Given the description of an element on the screen output the (x, y) to click on. 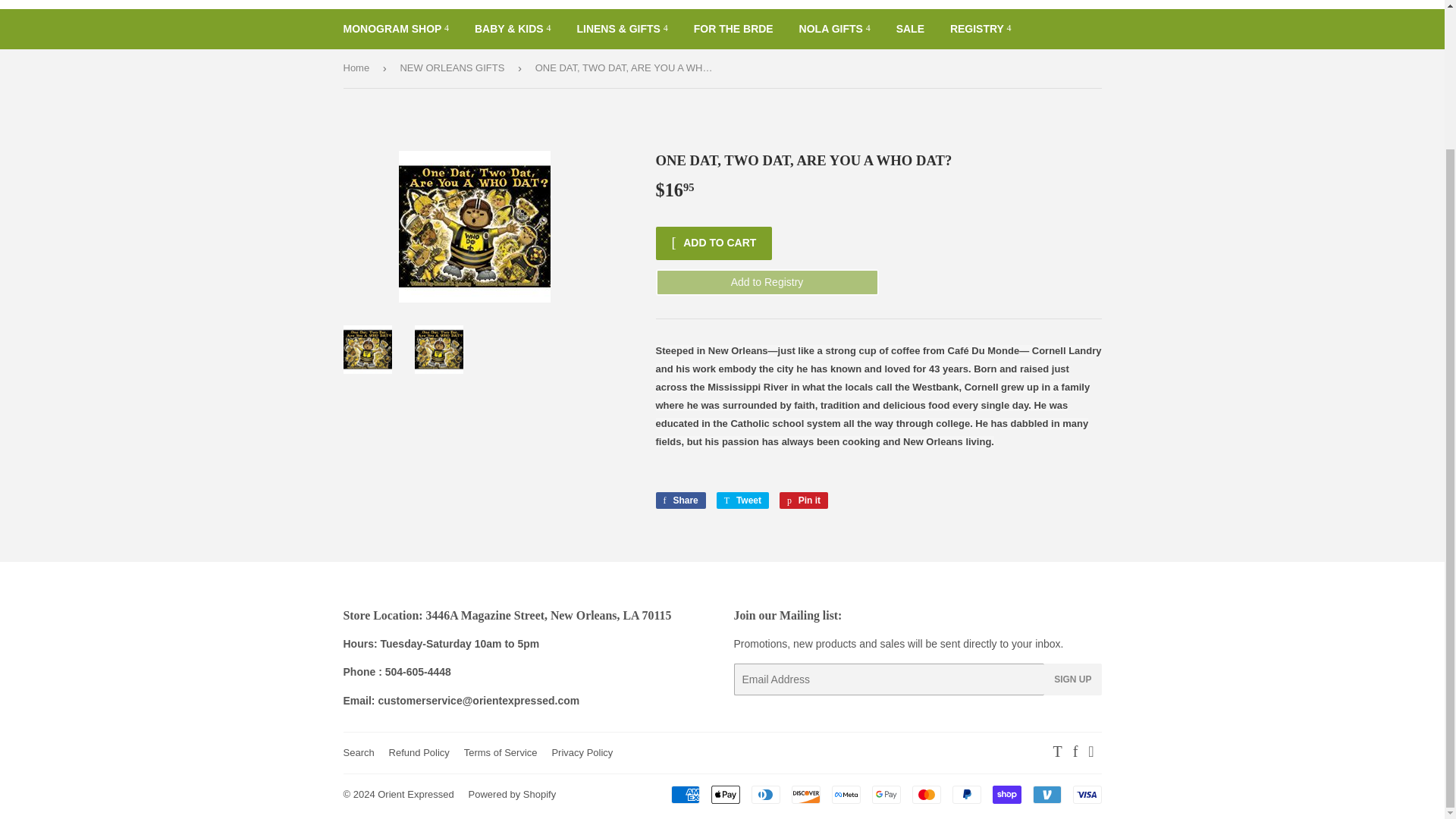
Shop Pay (1005, 794)
Diners Club (764, 794)
Pin on Pinterest (803, 500)
Discover (806, 794)
Tweet on Twitter (742, 500)
PayPal (966, 794)
American Express (683, 794)
Apple Pay (725, 794)
Visa (1085, 794)
Venmo (1046, 794)
Mastercard (925, 794)
Share on Facebook (679, 500)
Google Pay (886, 794)
Meta Pay (845, 794)
